Given the description of an element on the screen output the (x, y) to click on. 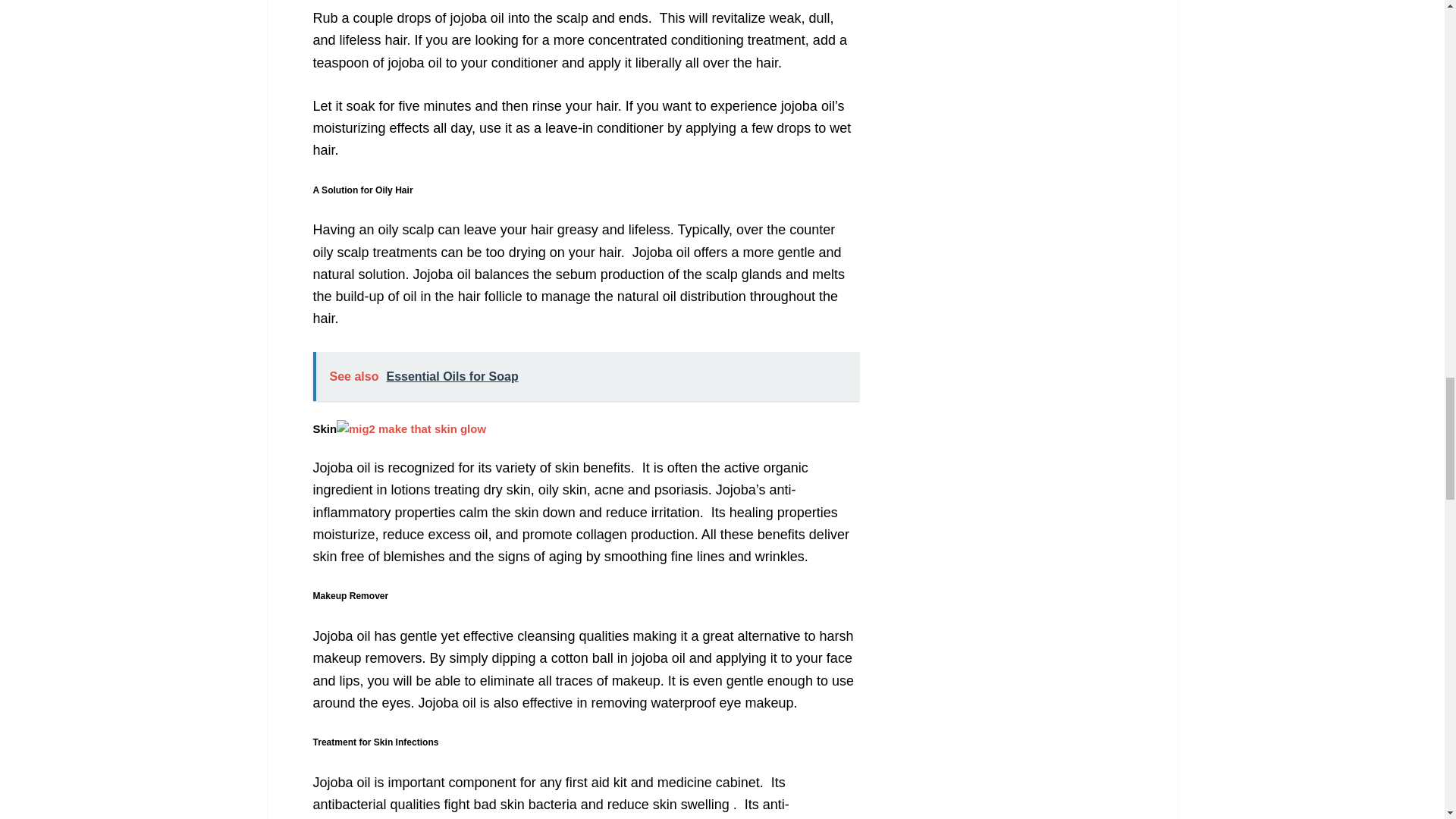
A Guide To Jojoba Oil Uses 3 (411, 429)
See also  Essential Oils for Soap (586, 376)
